Given the description of an element on the screen output the (x, y) to click on. 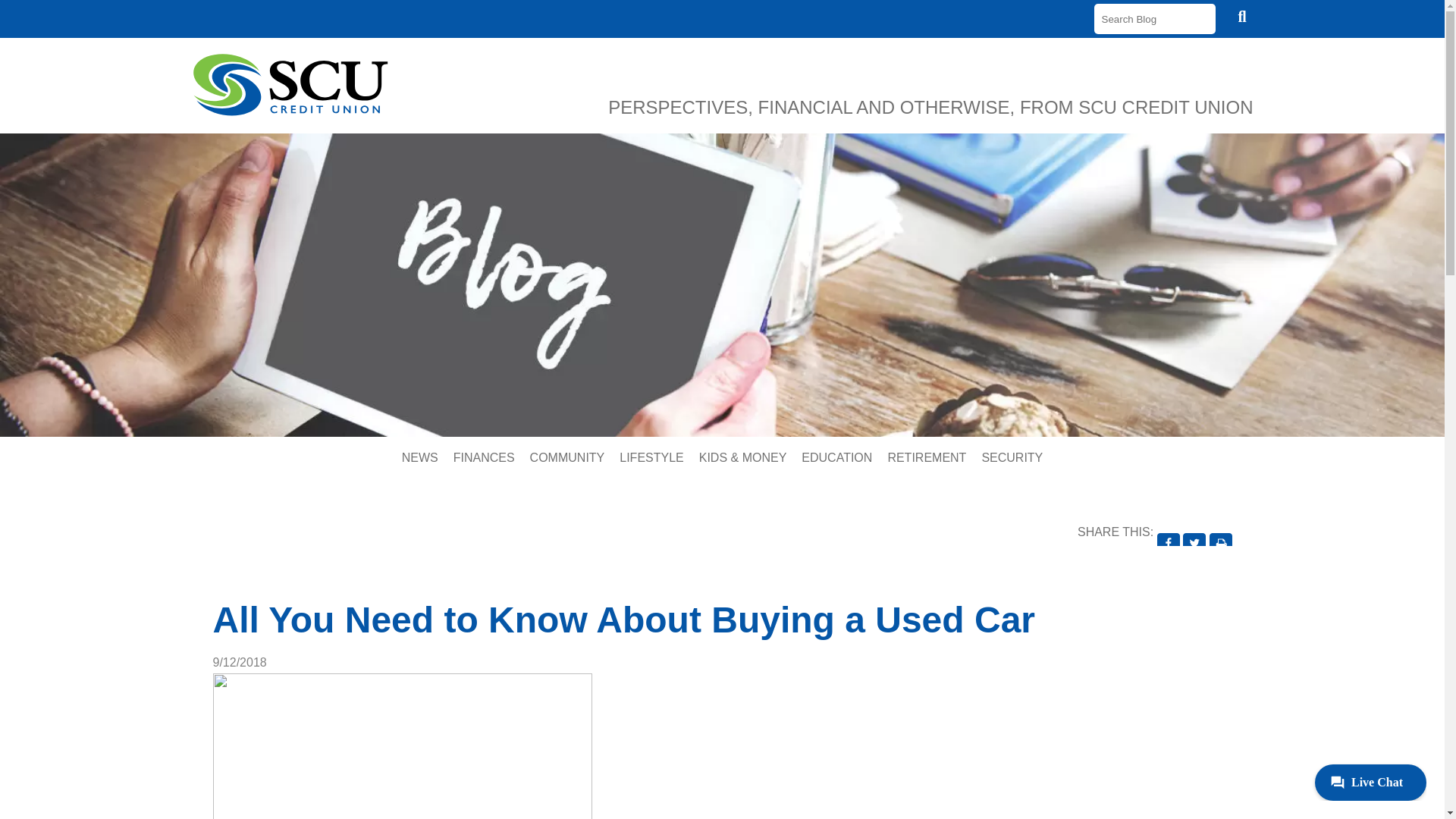
SECURITY (1011, 457)
LIFESTYLE (650, 457)
FINANCES (483, 457)
EDUCATION (836, 457)
RETIREMENT (926, 457)
Search (1241, 16)
SCU Credit Union (289, 85)
NEWS (419, 457)
COMMUNITY (567, 457)
